Given the description of an element on the screen output the (x, y) to click on. 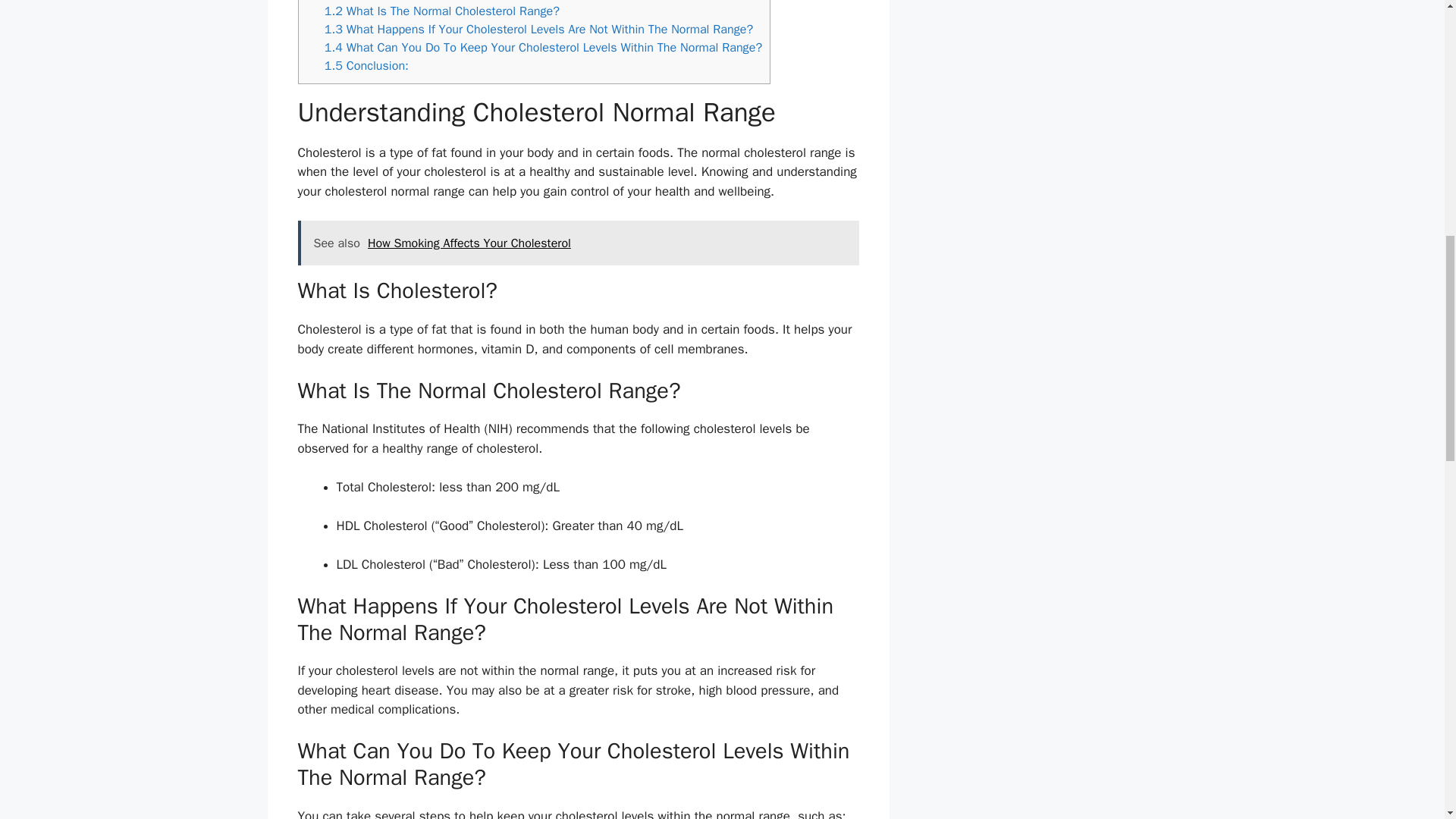
See also  How Smoking Affects Your Cholesterol (578, 243)
1.5 Conclusion: (366, 65)
1.2 What Is The Normal Cholesterol Range? (441, 10)
